Given the description of an element on the screen output the (x, y) to click on. 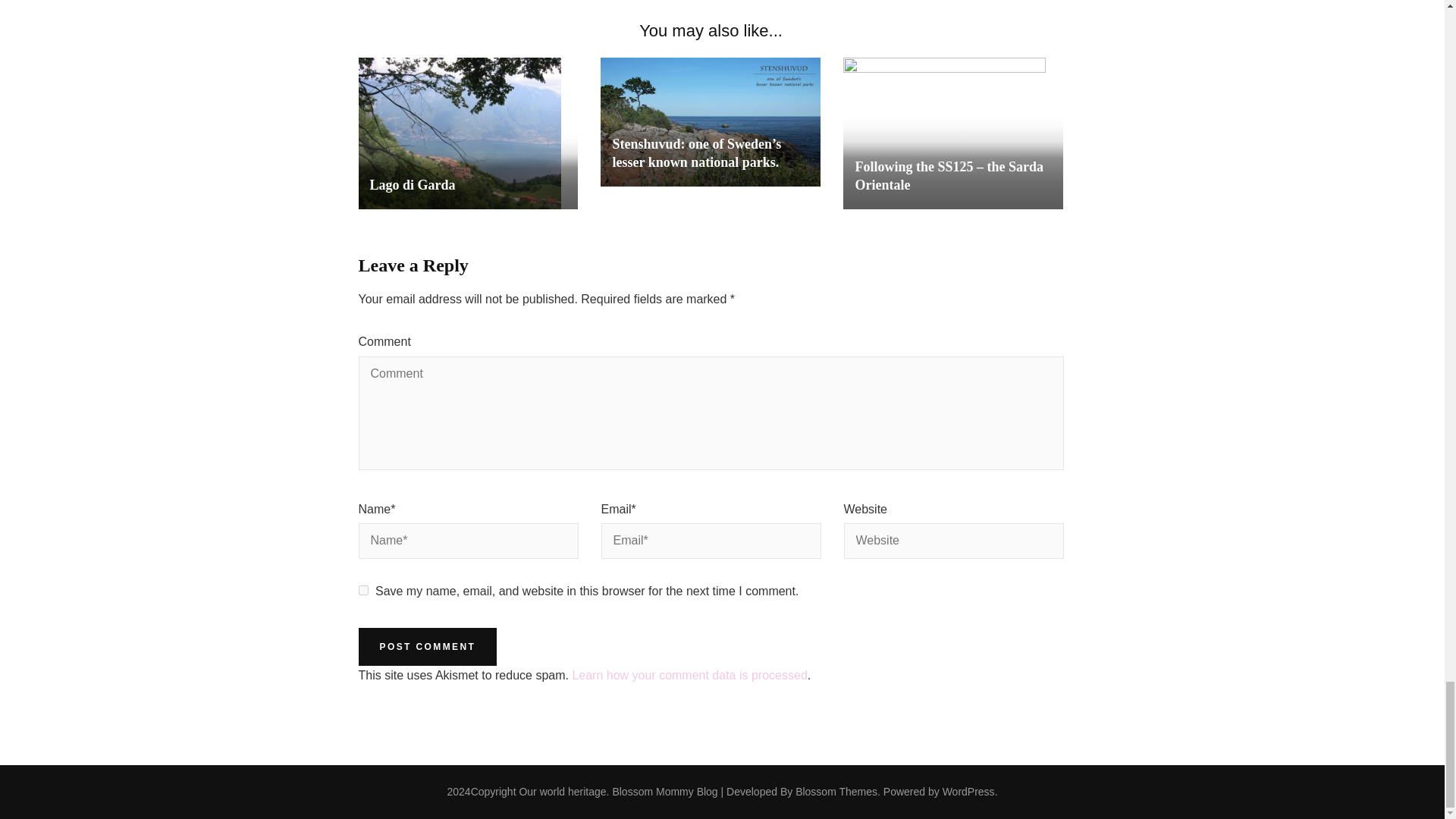
Post Comment (427, 646)
yes (363, 590)
